Given the description of an element on the screen output the (x, y) to click on. 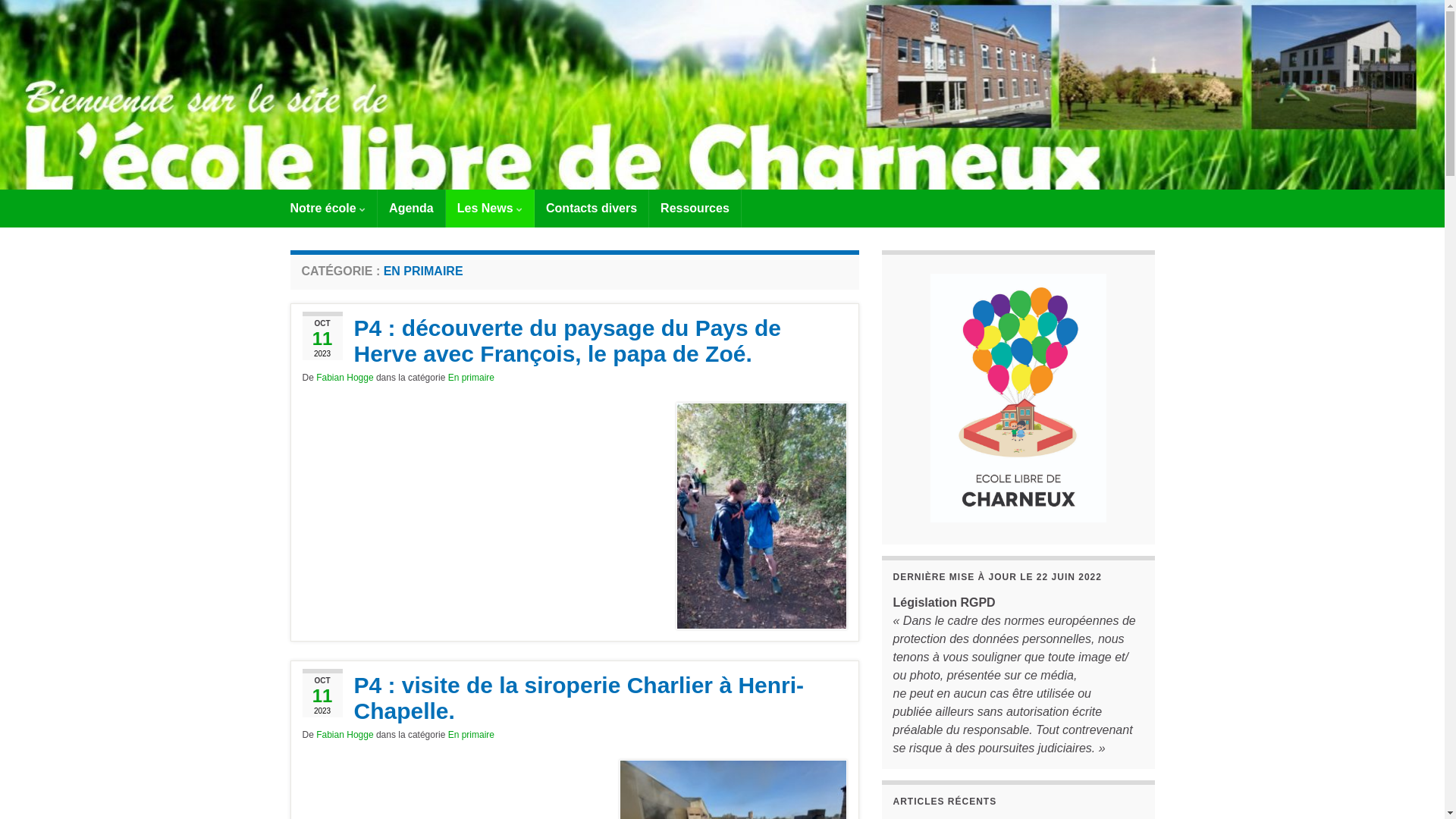
En primaire Element type: text (471, 734)
Fabian Hogge Element type: text (344, 377)
Les News Element type: text (489, 208)
Fabian Hogge Element type: text (344, 734)
En primaire Element type: text (471, 377)
Agenda Element type: text (411, 208)
Ressources Element type: text (694, 208)
Contacts divers Element type: text (591, 208)
